Given the description of an element on the screen output the (x, y) to click on. 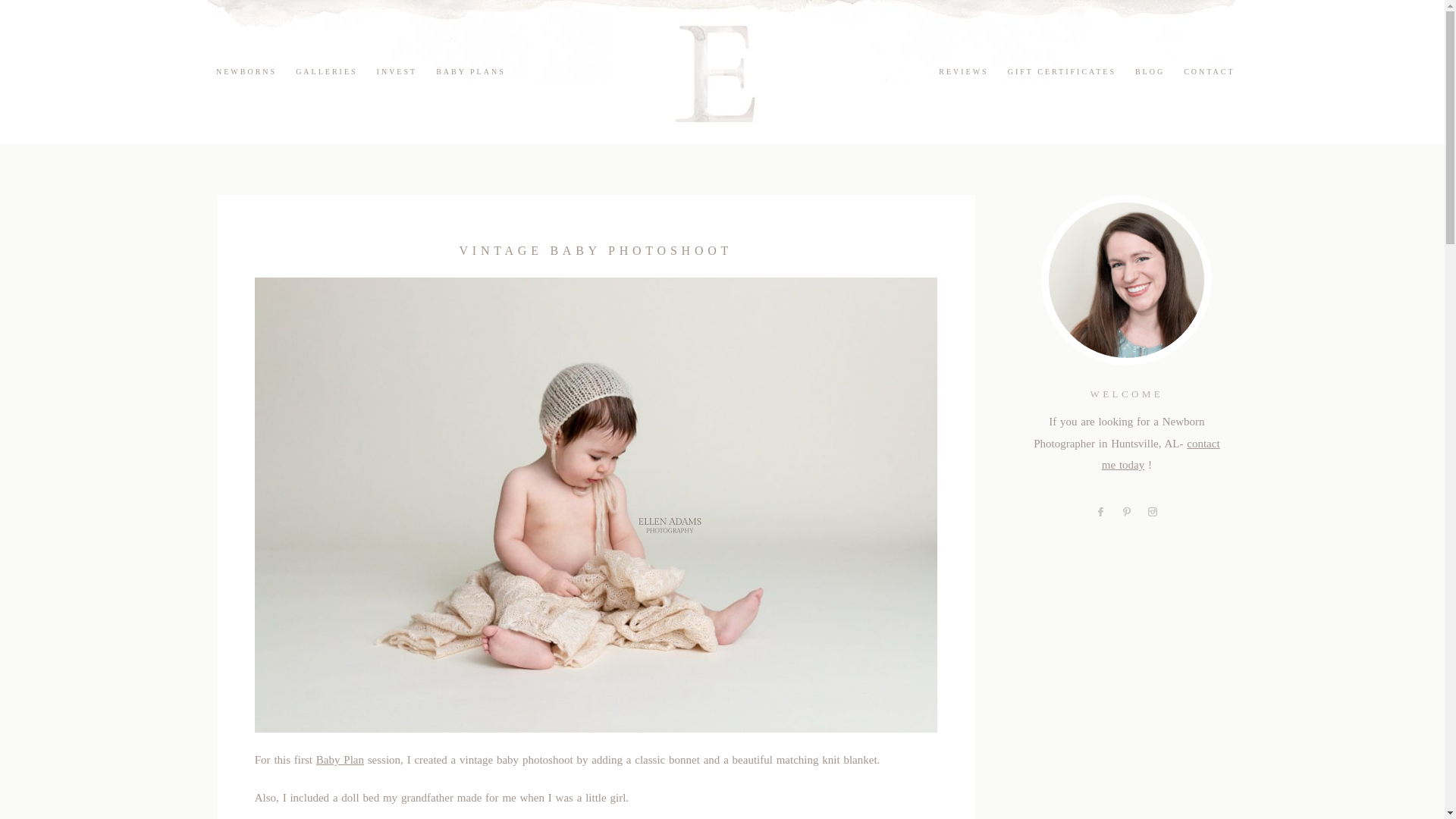
GIFT CERTIFICATES (1061, 71)
NEWBORNS (245, 71)
ellen adams (721, 71)
INVEST (397, 71)
Baby Plan (339, 759)
CONTACT (1208, 71)
BABY PLANS (470, 71)
BLOG (1149, 71)
contact me today (1161, 454)
GALLERIES (325, 71)
REVIEWS (963, 71)
